Given the description of an element on the screen output the (x, y) to click on. 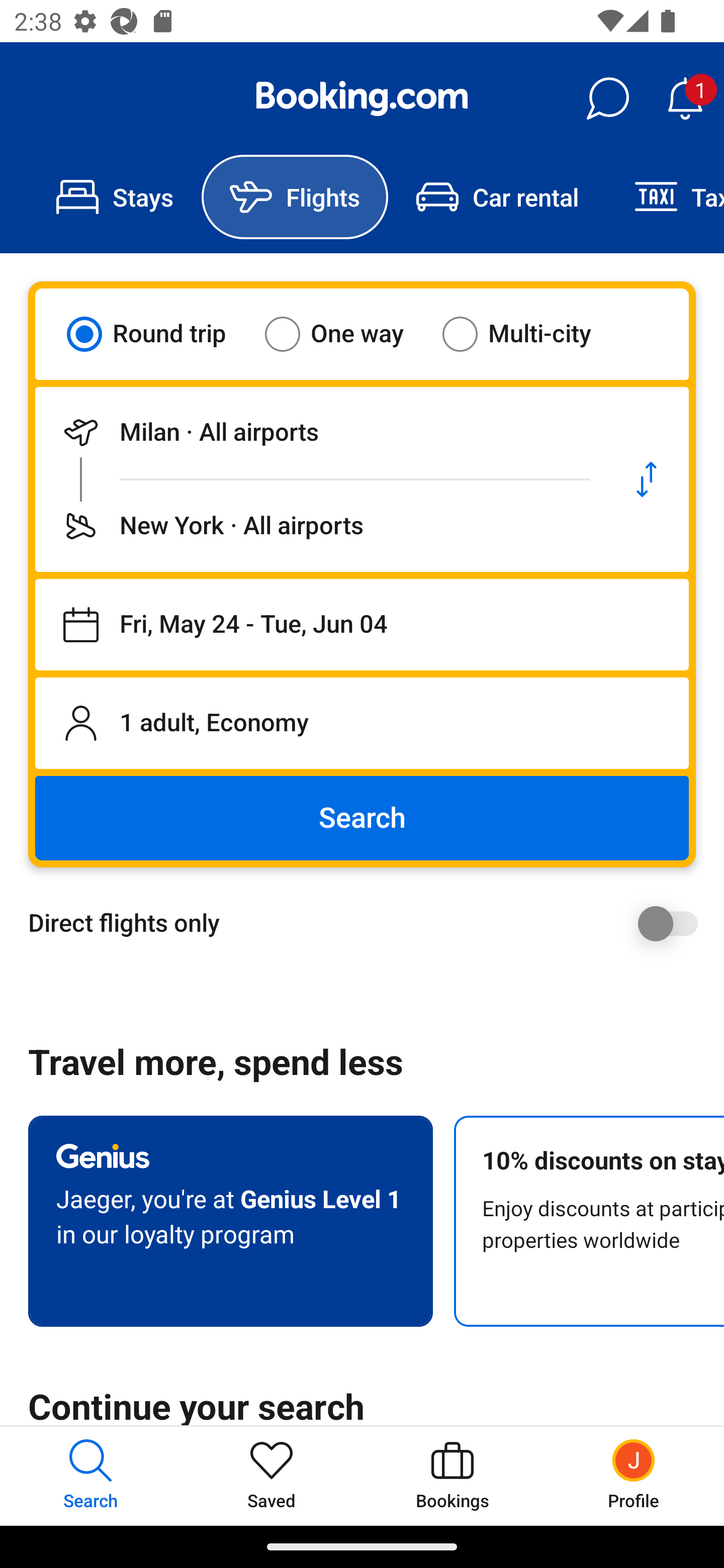
Messages (607, 98)
Notifications (685, 98)
Stays (114, 197)
Flights (294, 197)
Car rental (497, 197)
Taxi (665, 197)
One way (346, 333)
Multi-city (528, 333)
Departing from Milan · All airports (319, 432)
Swap departure location and destination (646, 479)
Flying to New York · All airports (319, 525)
Departing on Fri, May 24, returning on Tue, Jun 04 (361, 624)
1 adult, Economy (361, 722)
Search (361, 818)
Direct flights only (369, 923)
Saved (271, 1475)
Bookings (452, 1475)
Profile (633, 1475)
